Given the description of an element on the screen output the (x, y) to click on. 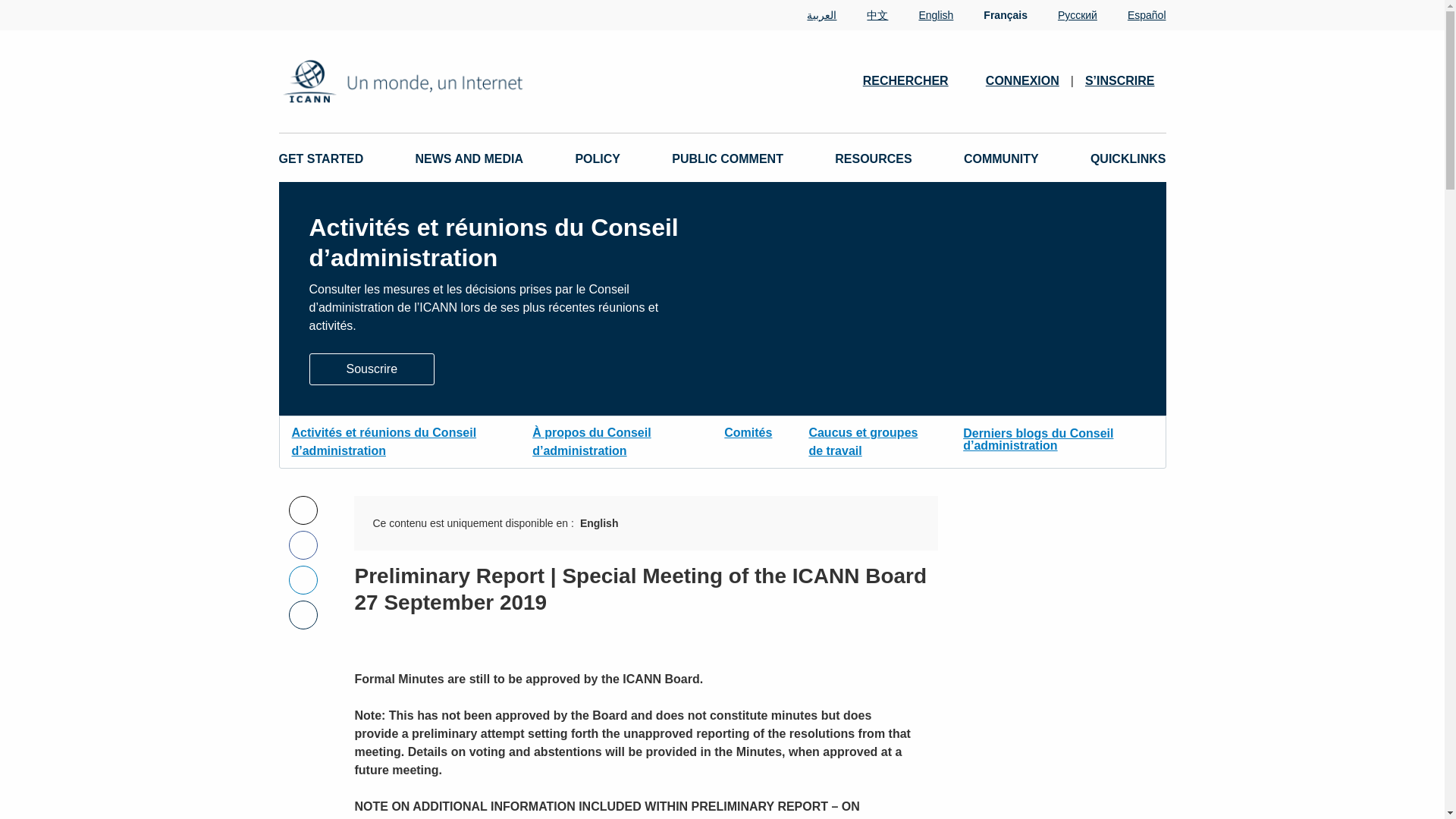
RESOURCES (872, 158)
CONNEXION (1022, 81)
Souscrire (371, 368)
English (920, 14)
NEWS AND MEDIA (469, 158)
RECHERCHER (912, 79)
QUICKLINKS (1128, 158)
POLICY (597, 158)
Souscrire (371, 367)
PUBLIC COMMENT (727, 158)
